Given the description of an element on the screen output the (x, y) to click on. 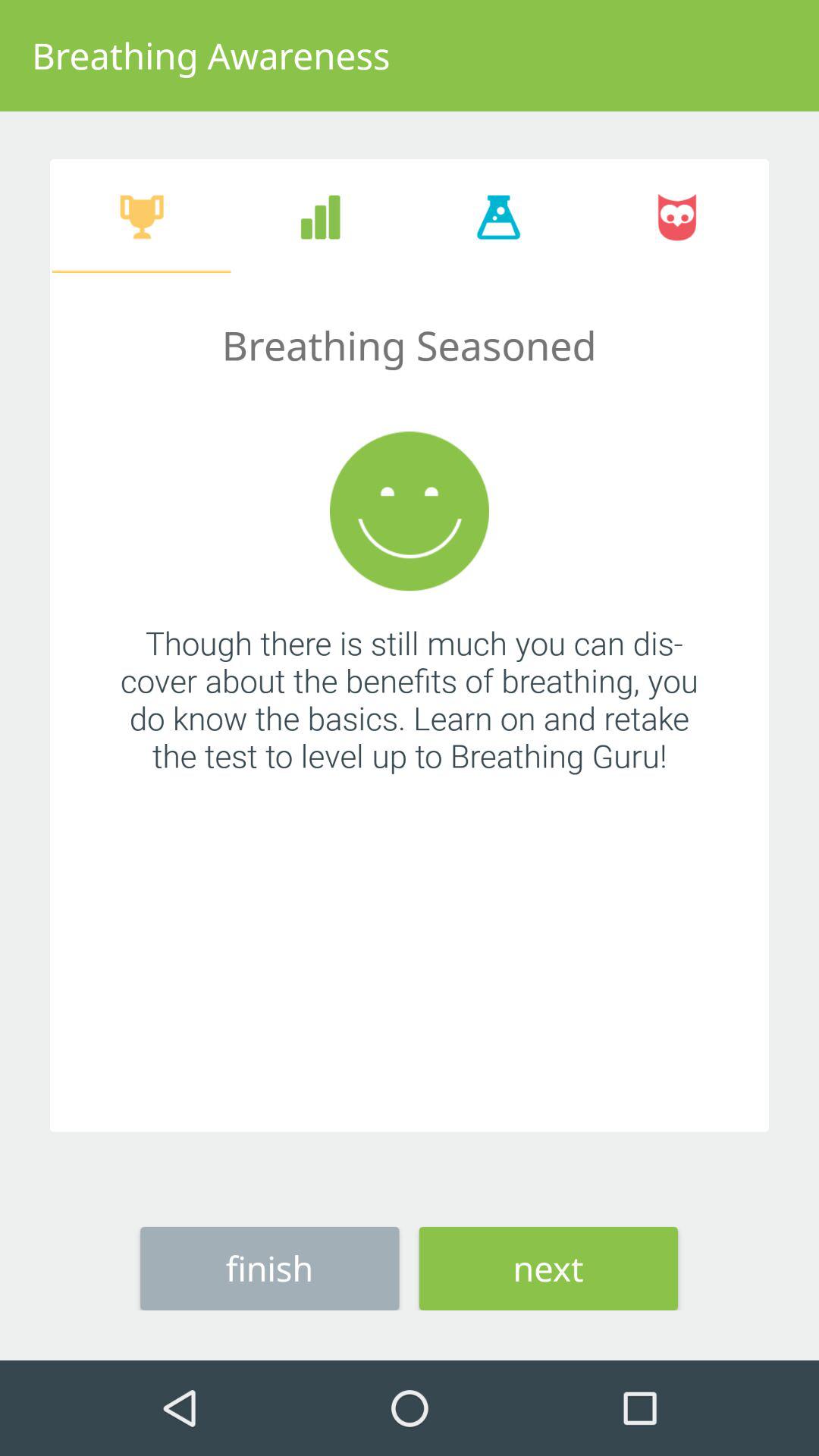
scroll until the finish button (269, 1268)
